Given the description of an element on the screen output the (x, y) to click on. 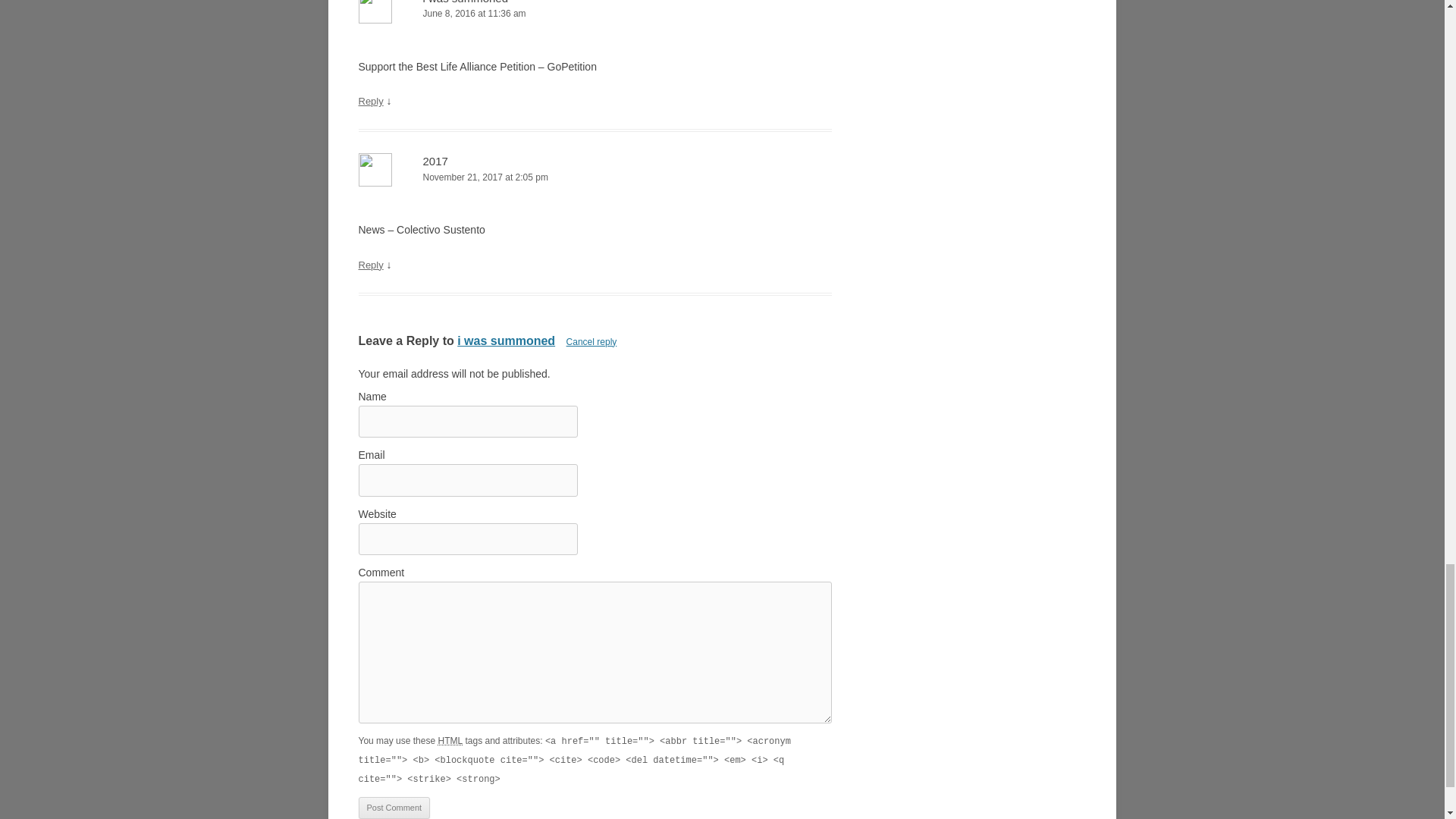
Reply (370, 101)
June 8, 2016 at 11:36 am (594, 13)
HyperText Markup Language (450, 740)
i was summoned (505, 340)
November 21, 2017 at 2:05 pm (594, 177)
Reply (370, 265)
Cancel reply (591, 341)
i was summoned (465, 2)
2017 (435, 160)
